Given the description of an element on the screen output the (x, y) to click on. 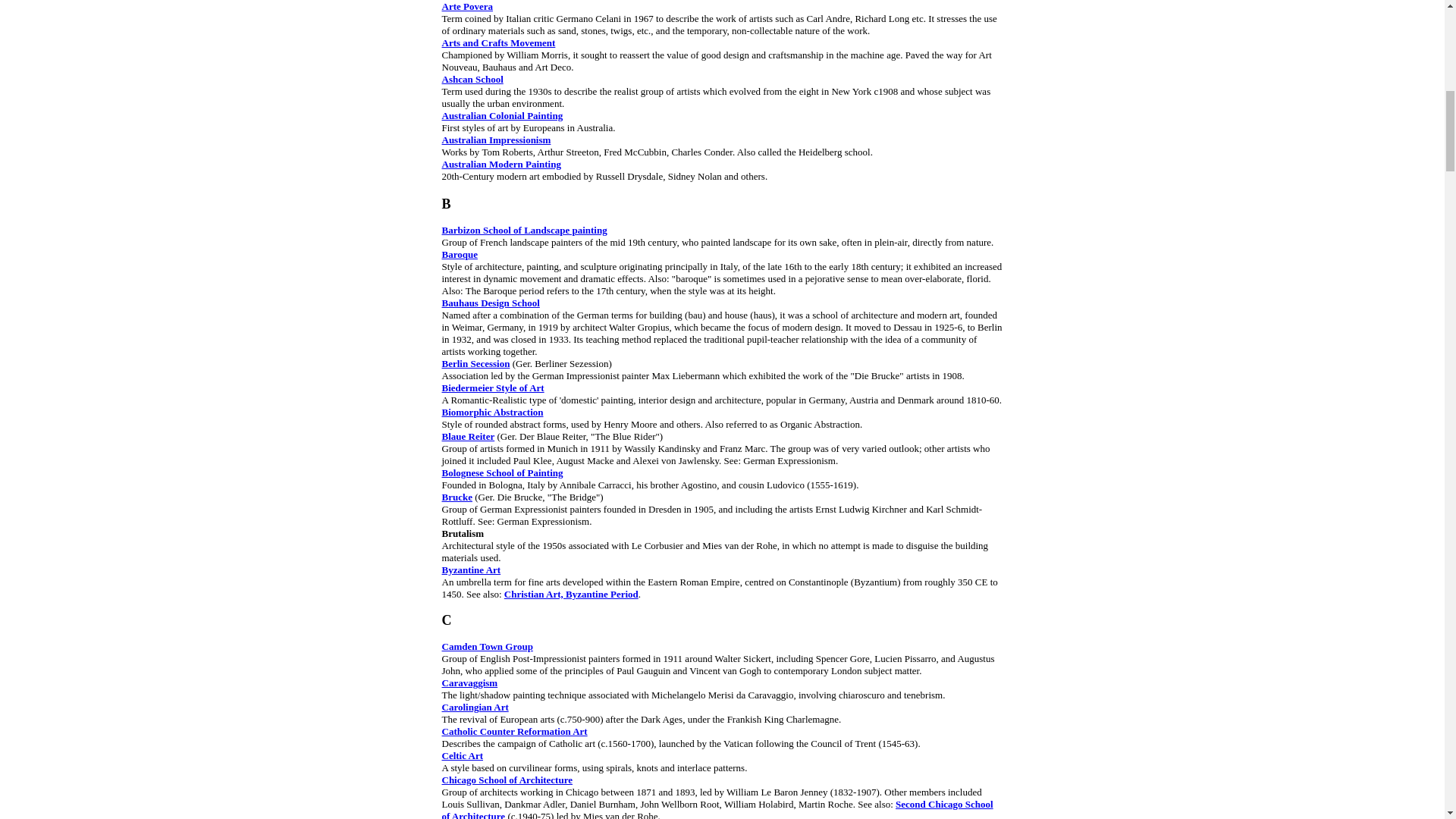
Ashcan School (471, 79)
Arte Povera (467, 6)
Australian Colonial Painting (501, 115)
Australian Impressionism (495, 139)
Arts and Crafts Movement (497, 42)
